Given the description of an element on the screen output the (x, y) to click on. 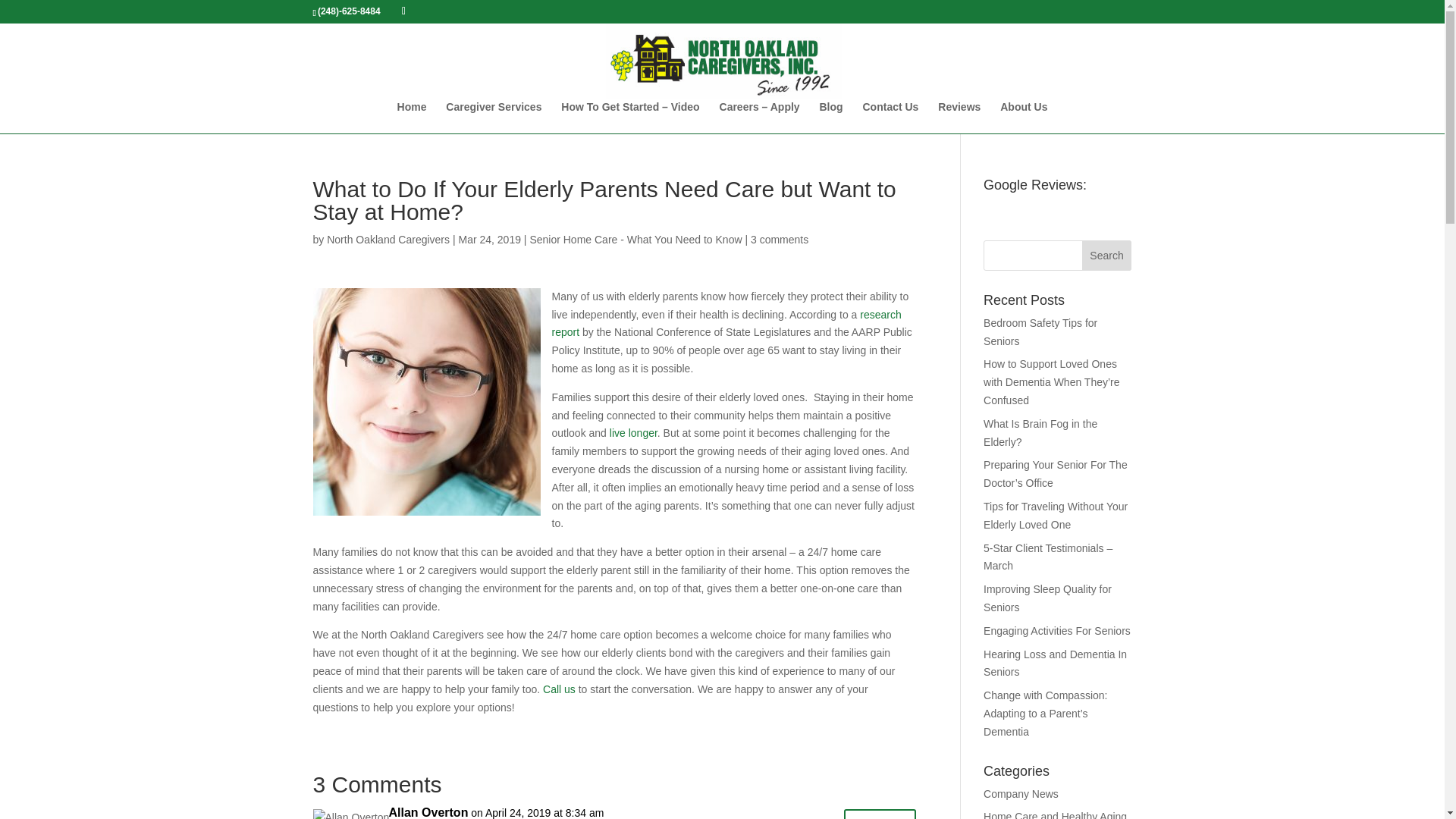
Home (411, 117)
About Us (1023, 117)
live longer (634, 432)
research report (726, 323)
North Oakland Caregivers (387, 239)
Senior Home Care - What You Need to Know (635, 239)
Bedroom Safety Tips for Seniors (1040, 331)
3 comments (779, 239)
Reply (879, 814)
Search (1106, 255)
